Given the description of an element on the screen output the (x, y) to click on. 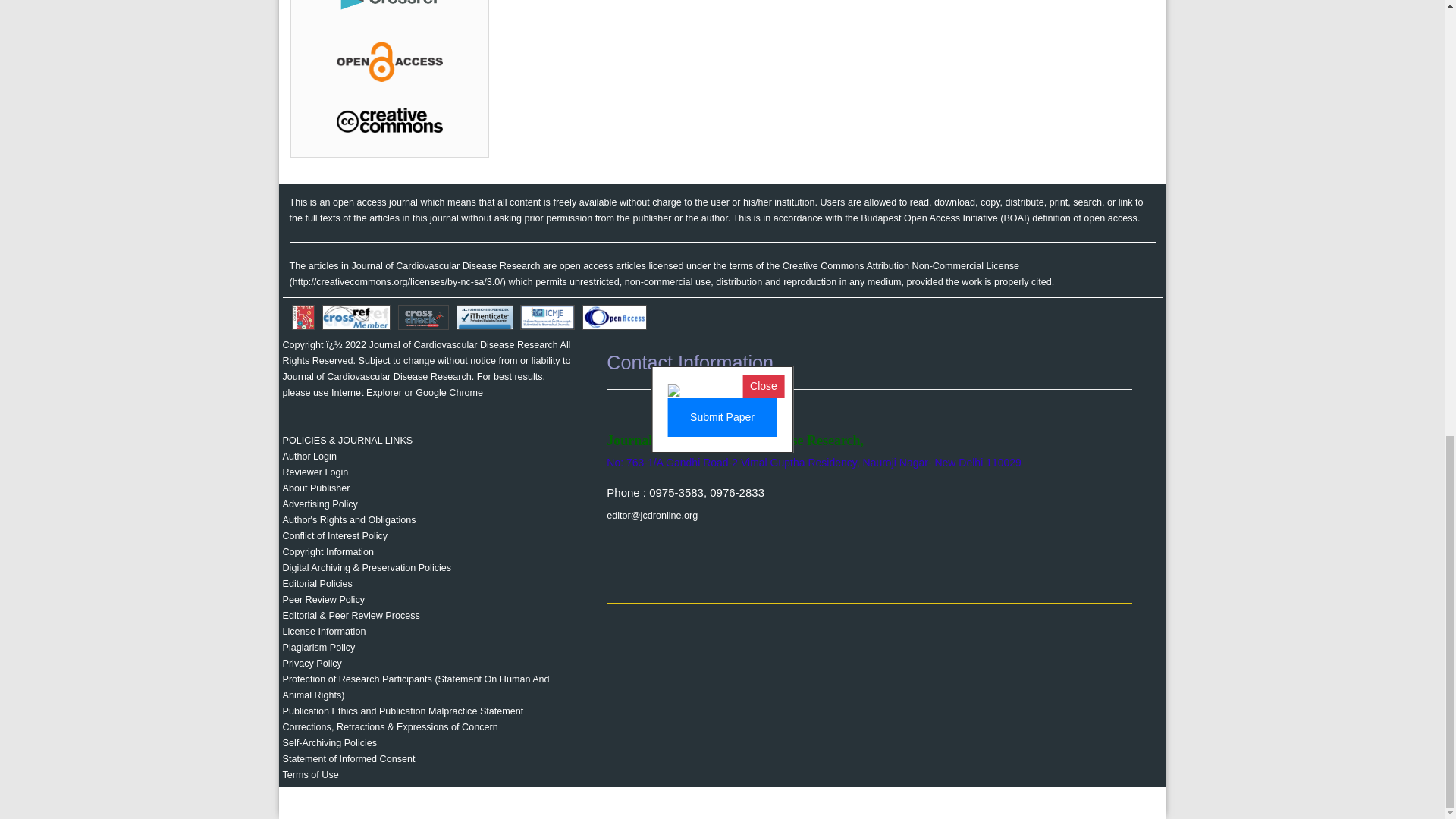
About Publisher (315, 488)
Advertising Policy (319, 503)
Author Login (309, 456)
Copyright Information (327, 552)
Reviewer Login (314, 471)
Conflict of Interest Policy (334, 535)
Author's Rights and Obligations (348, 520)
Editorial Policies (317, 583)
Peer Review Policy (323, 599)
License Information (323, 631)
